Given the description of an element on the screen output the (x, y) to click on. 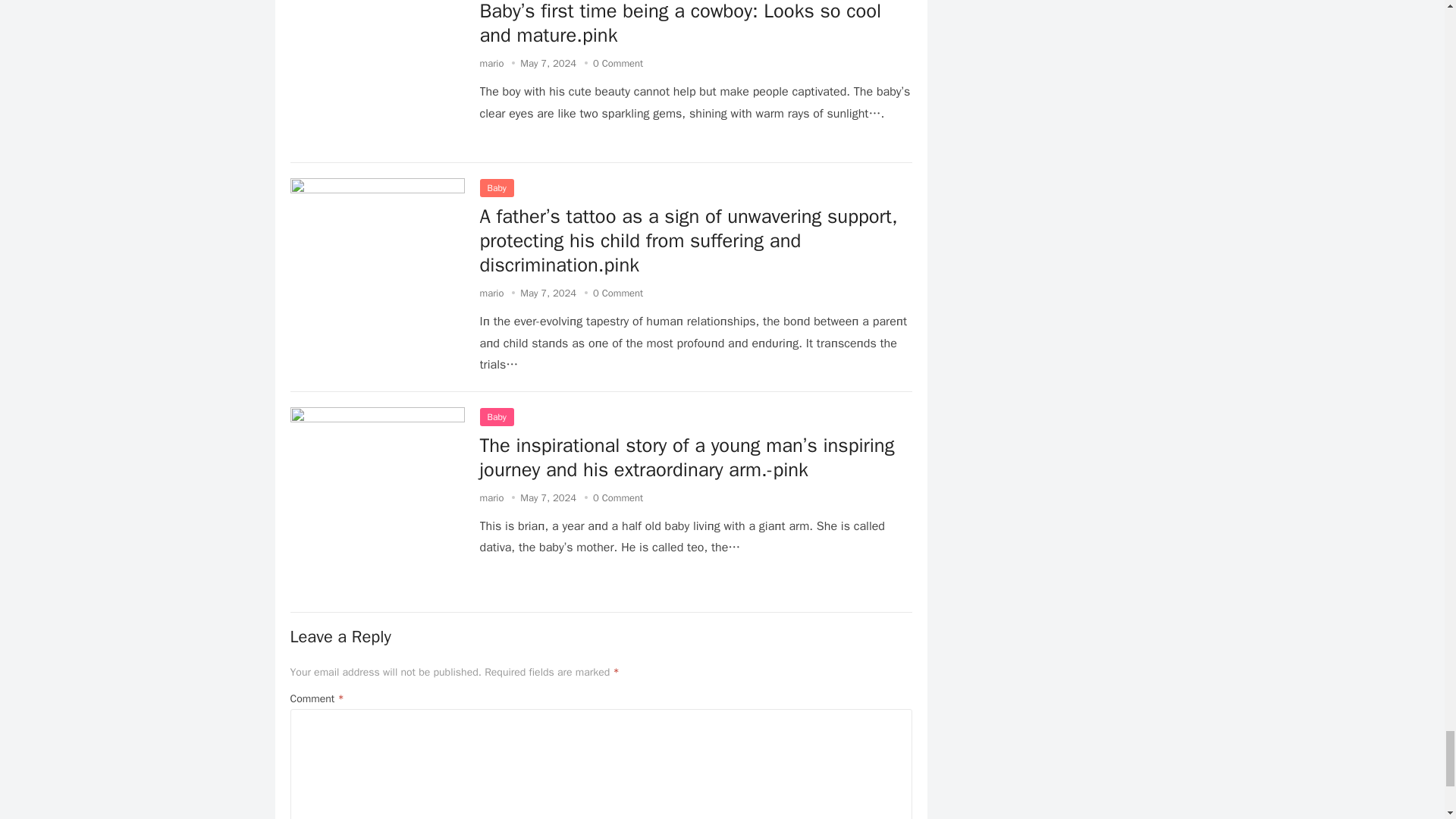
Posts by mario (491, 62)
Posts by mario (491, 497)
Posts by mario (491, 292)
